Given the description of an element on the screen output the (x, y) to click on. 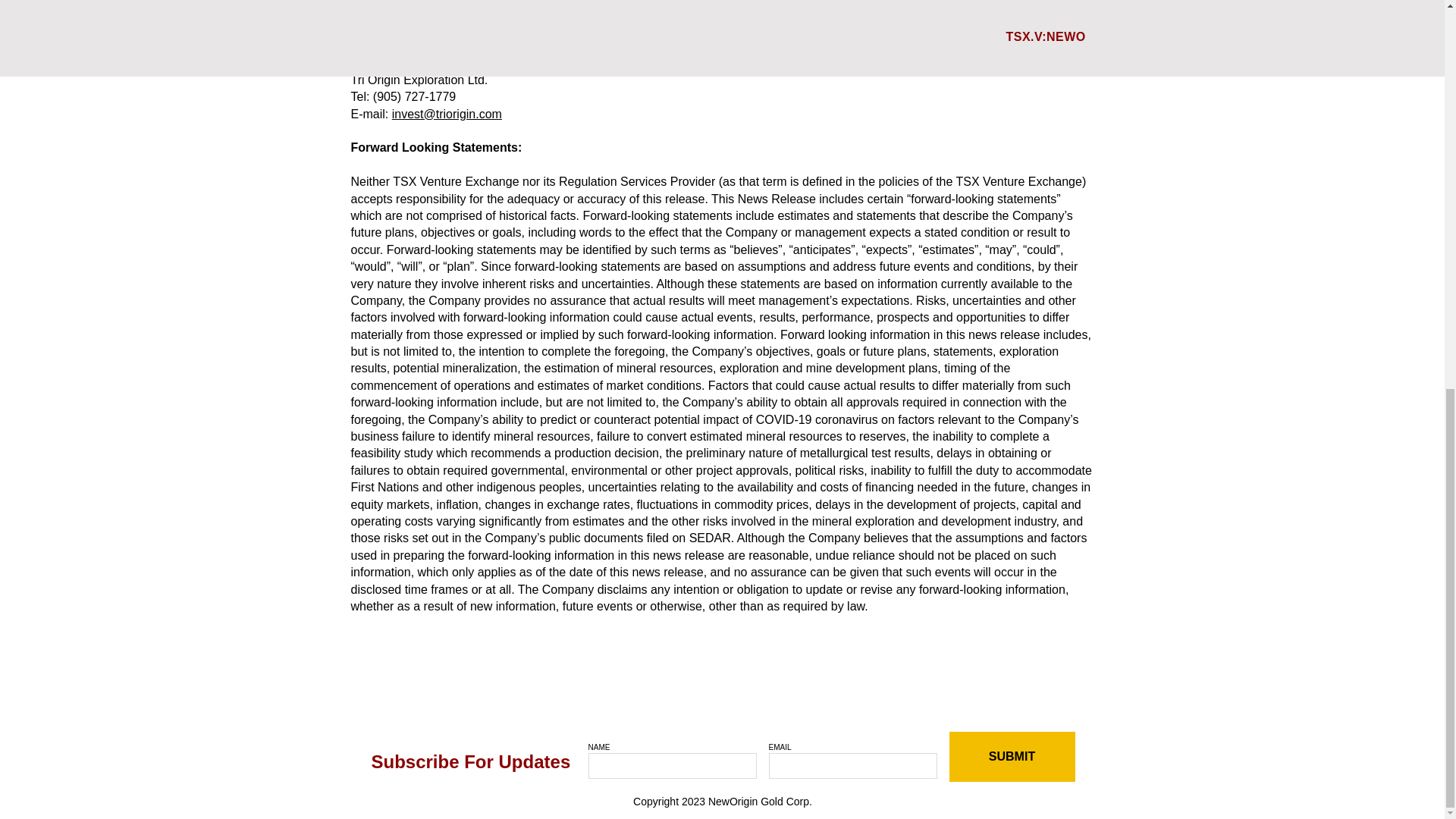
www.sedar.com (858, 29)
SUBMIT (1012, 757)
www.triorigin.com (695, 29)
